Given the description of an element on the screen output the (x, y) to click on. 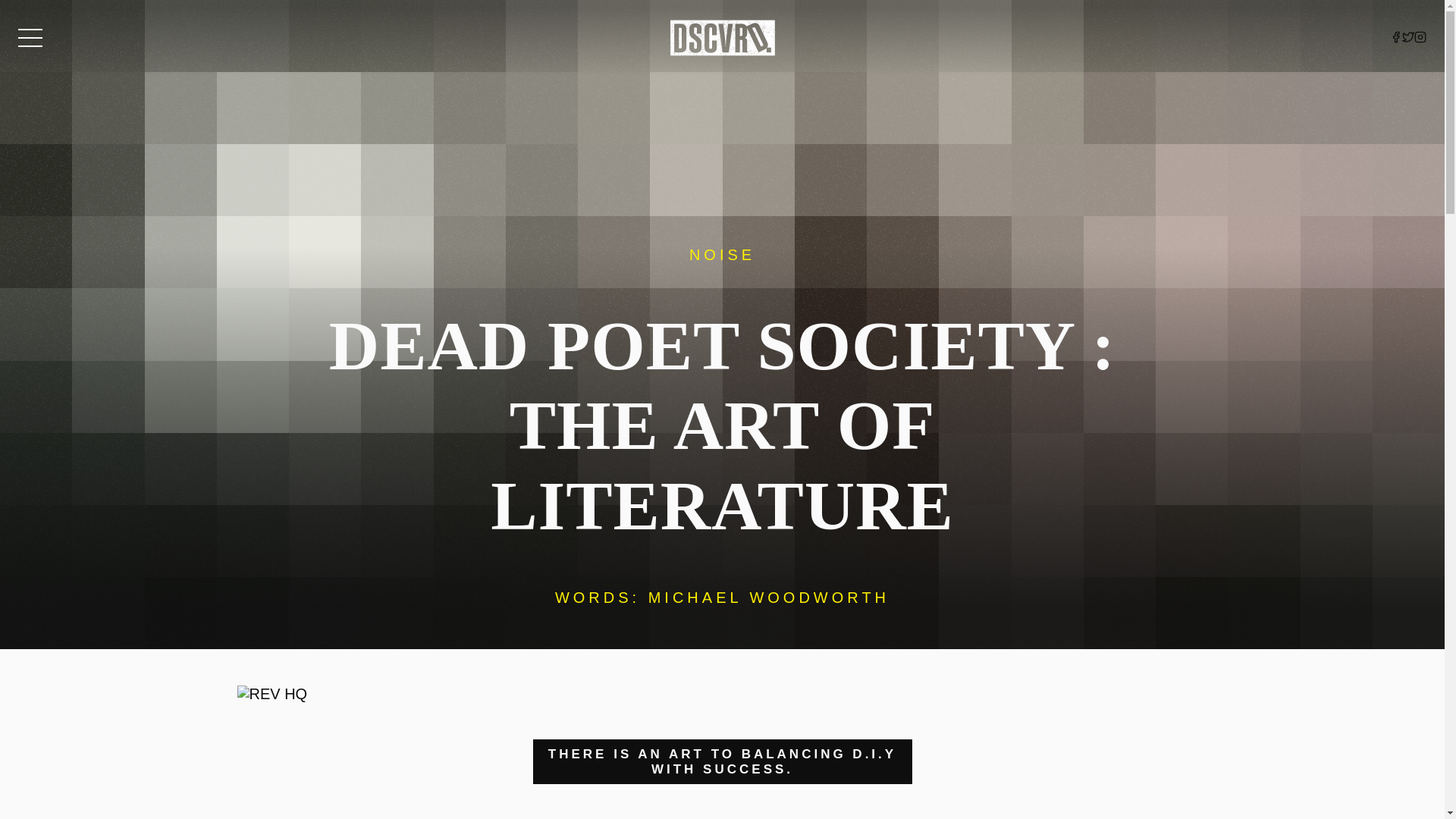
NOISE (721, 254)
